Given the description of an element on the screen output the (x, y) to click on. 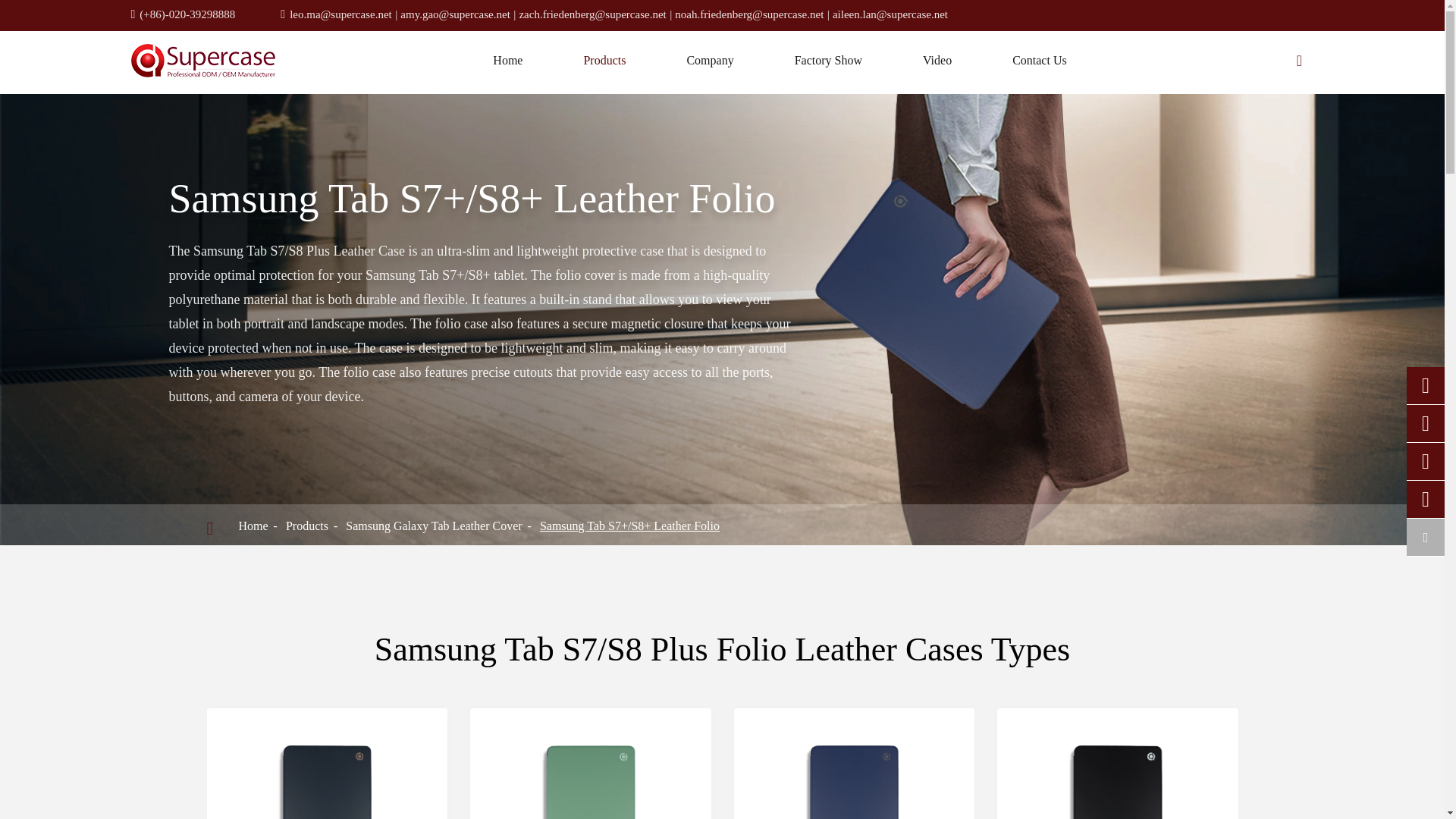
Samsung Galaxy Tab Leather Cover (433, 525)
Products (307, 525)
Guangzhou Supercase Enterprise Co., Ltd. (203, 60)
